Given the description of an element on the screen output the (x, y) to click on. 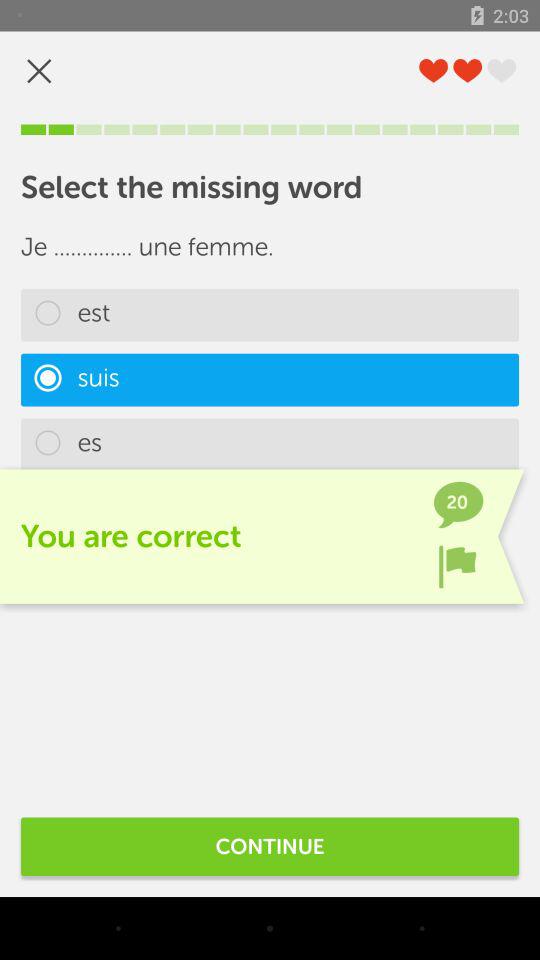
swipe to continue item (270, 846)
